Given the description of an element on the screen output the (x, y) to click on. 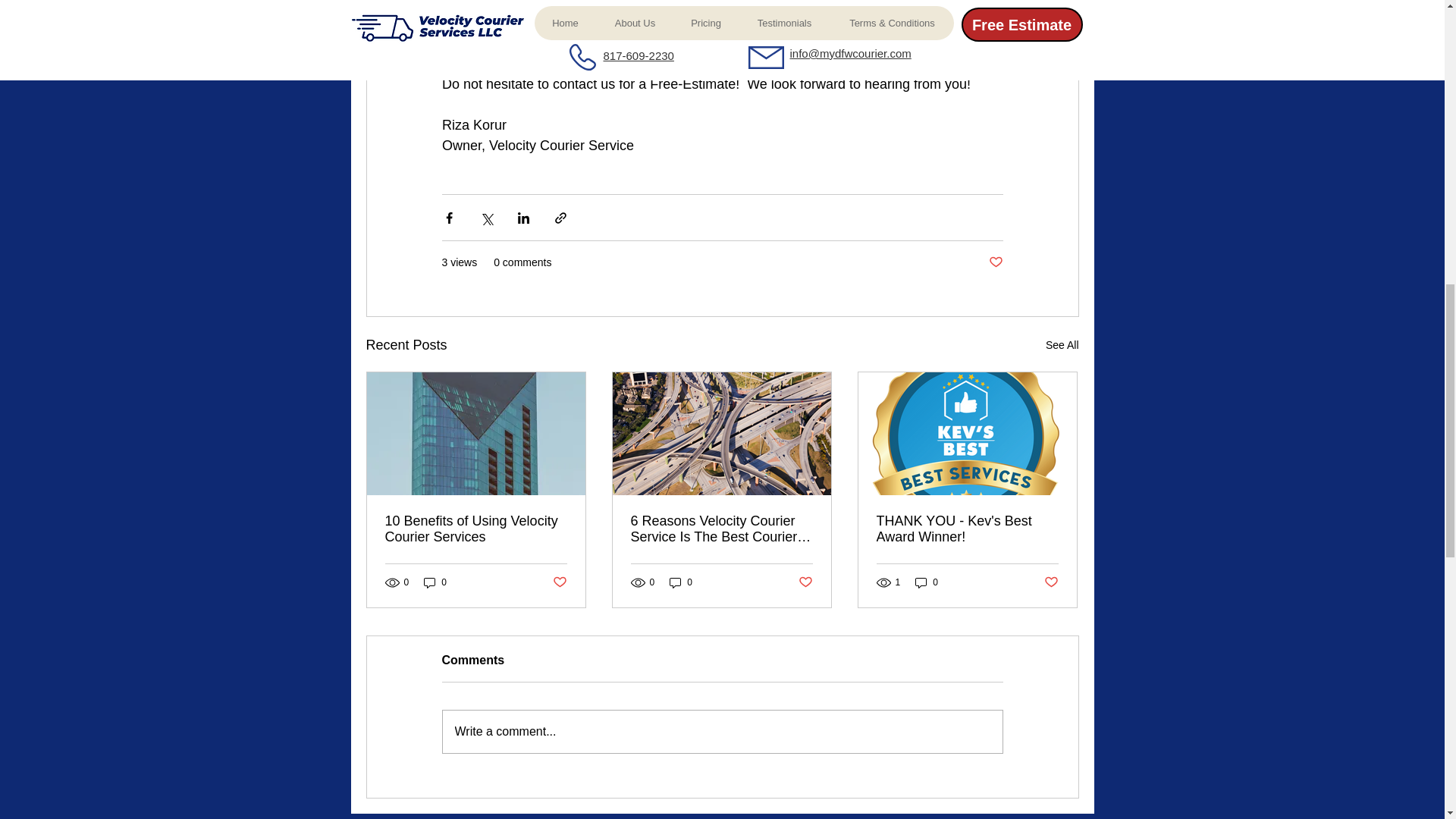
Post not marked as liked (1050, 582)
10 Benefits of Using Velocity Courier Services (476, 529)
0 (435, 582)
Post not marked as liked (995, 262)
Post not marked as liked (558, 582)
THANK YOU - Kev's Best Award Winner! (967, 529)
0 (681, 582)
Post not marked as liked (804, 582)
Write a comment... (722, 731)
See All (1061, 345)
0 (926, 582)
